Given the description of an element on the screen output the (x, y) to click on. 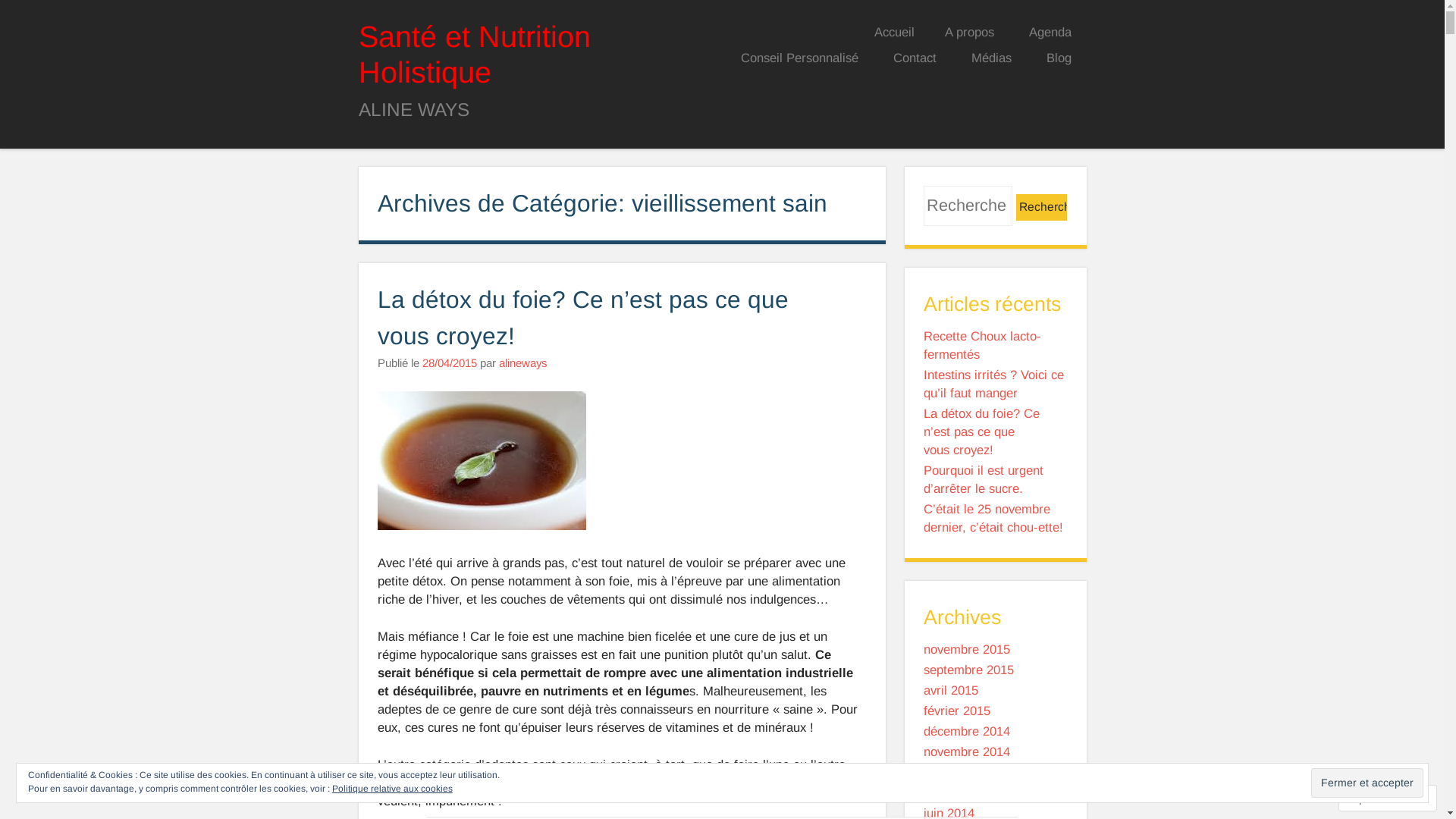
Accueil Element type: text (893, 32)
Recherche Element type: text (1041, 207)
Contact Element type: text (914, 58)
Suivre Element type: text (1372, 797)
octobre 2014 Element type: text (959, 772)
Aller au contenu principal Element type: text (807, 30)
Agenda Element type: text (1049, 32)
Fermer et accepter Element type: text (1367, 782)
novembre 2015 Element type: text (966, 649)
A propos Element type: text (969, 32)
Blog Element type: text (1058, 58)
avril 2015 Element type: text (950, 690)
Politique relative aux cookies Element type: text (392, 788)
septembre 2015 Element type: text (968, 669)
alineways Element type: text (522, 362)
28/04/2015 Element type: text (448, 362)
novembre 2014 Element type: text (966, 751)
septembre 2014 Element type: text (968, 792)
